Given the description of an element on the screen output the (x, y) to click on. 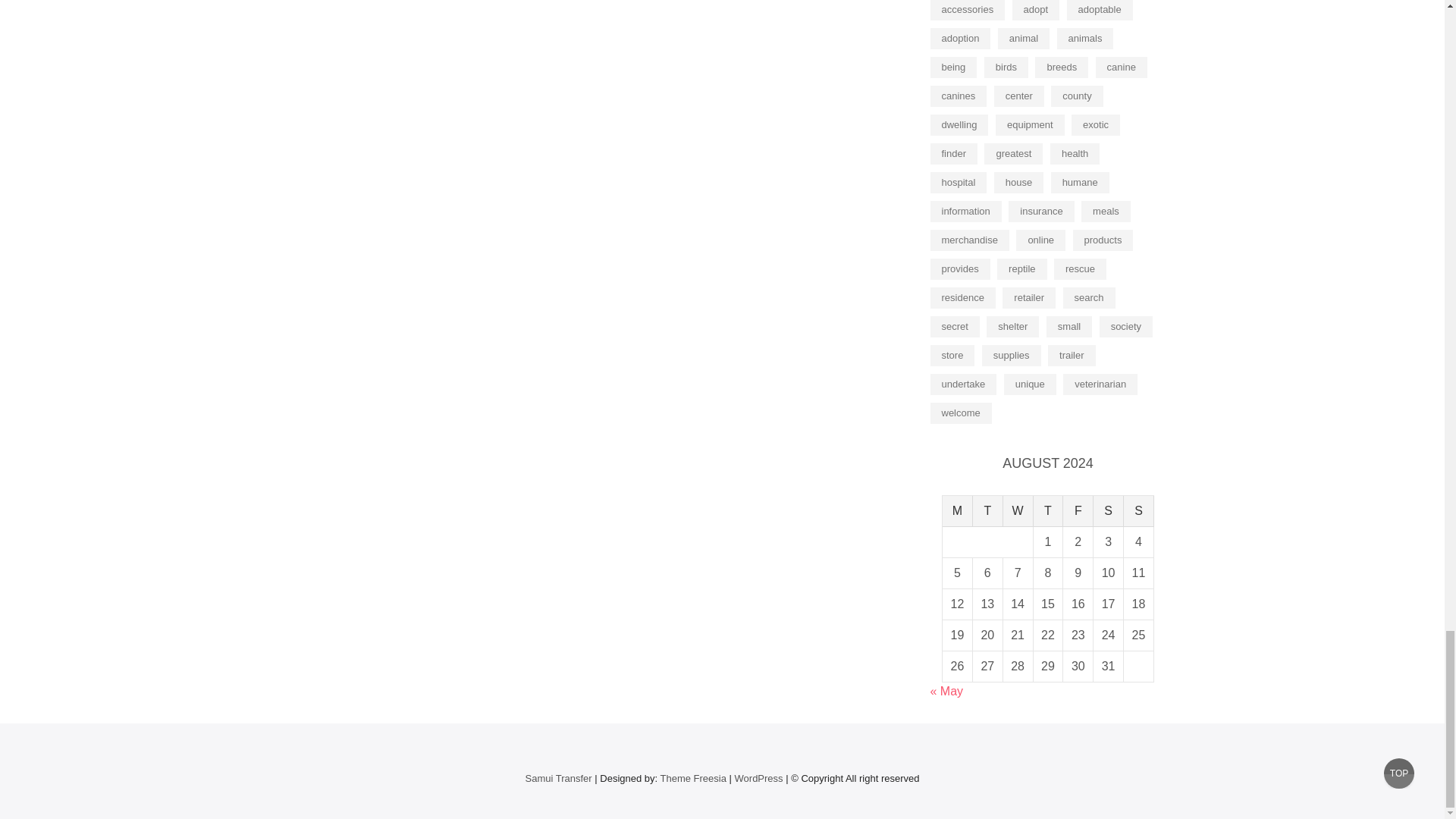
Saturday (1108, 511)
Thursday (1048, 511)
Sunday (1139, 511)
Monday (957, 511)
Tuesday (987, 511)
Samui Transfer (557, 778)
Theme Freesia (693, 778)
Friday (1077, 511)
Wednesday (1018, 511)
